Given the description of an element on the screen output the (x, y) to click on. 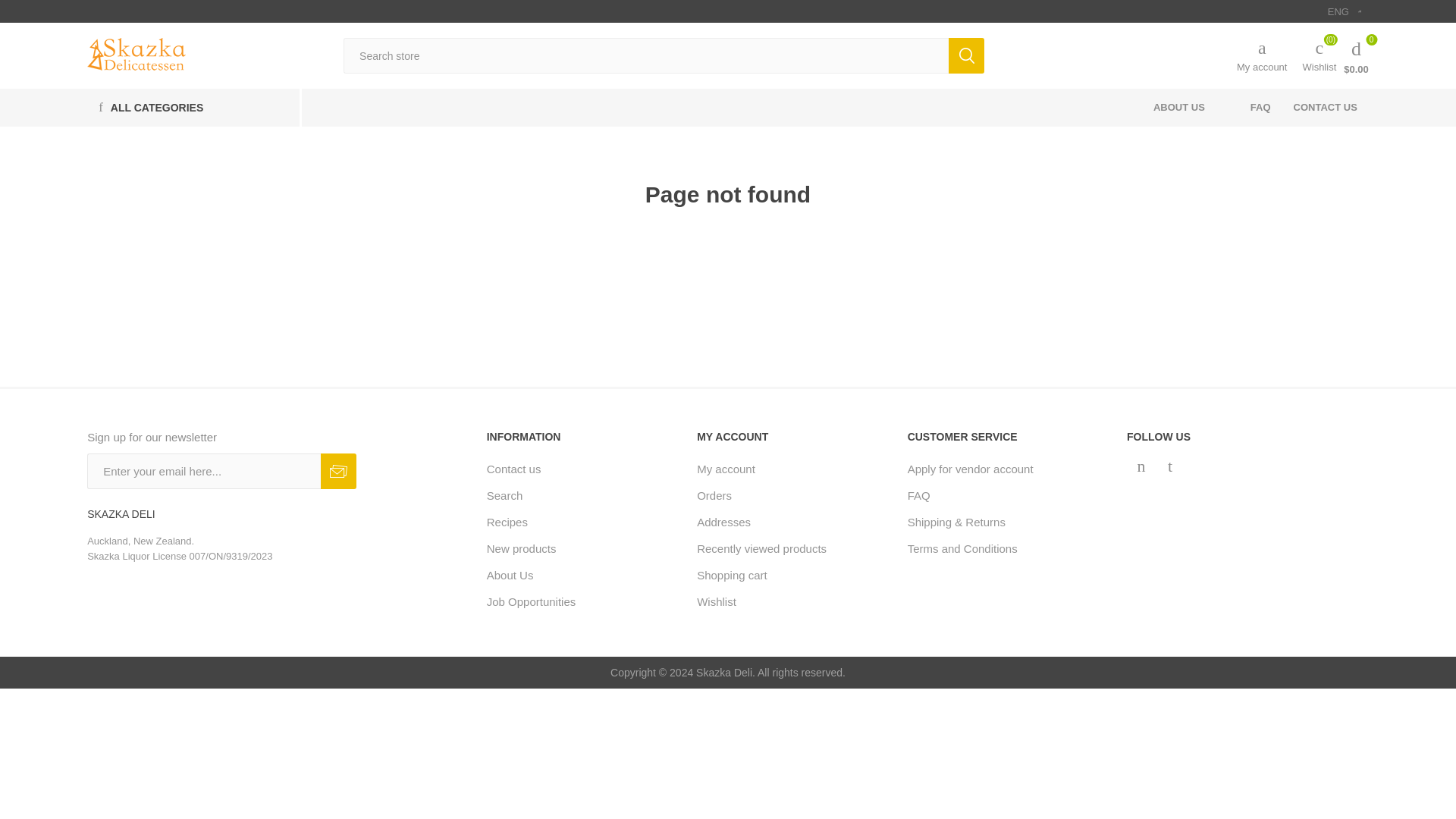
SEARCH (966, 55)
Skazka Deli (136, 53)
My account (1261, 54)
